Given the description of an element on the screen output the (x, y) to click on. 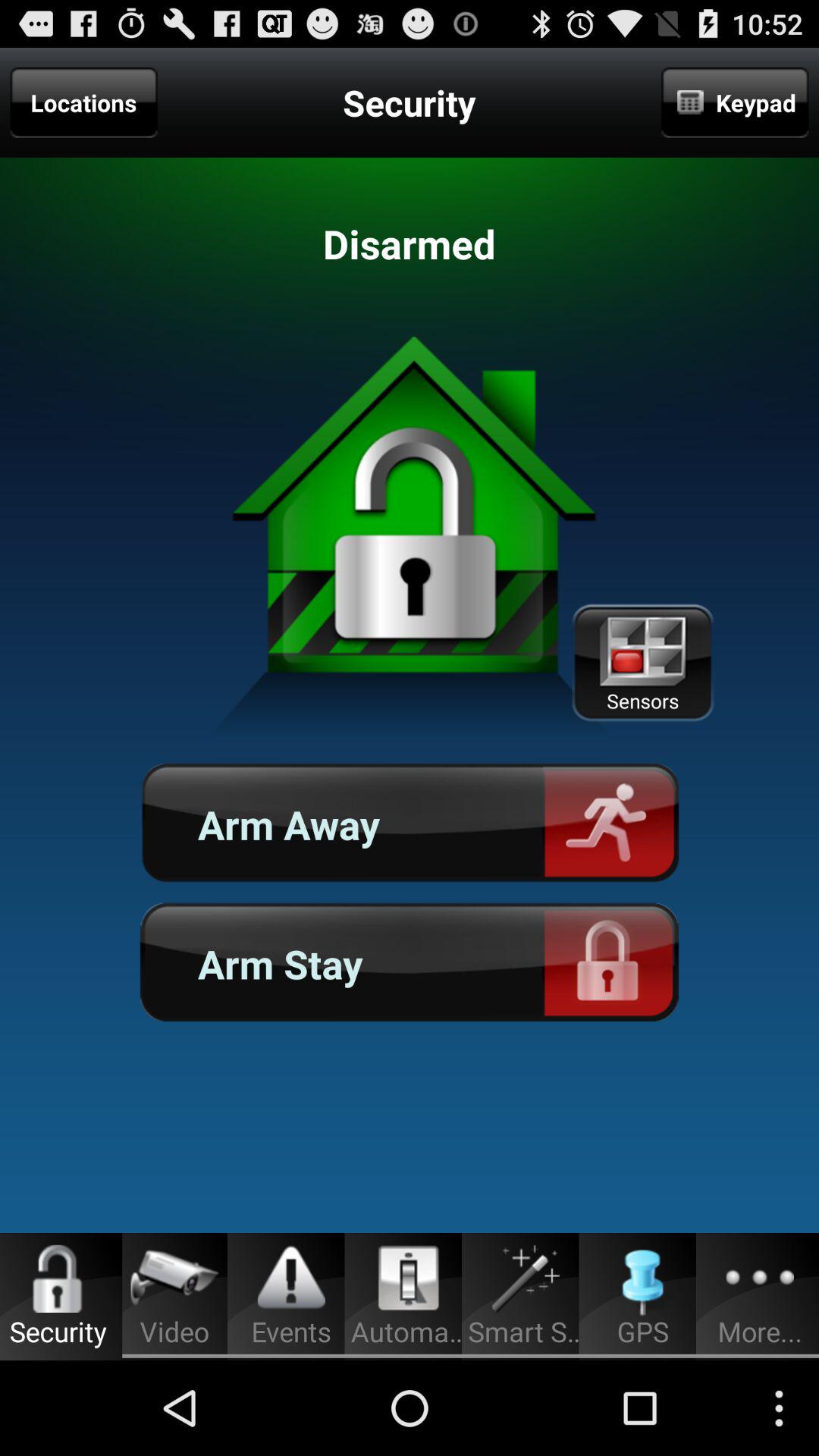
turn on app to the right of the security app (734, 102)
